Given the description of an element on the screen output the (x, y) to click on. 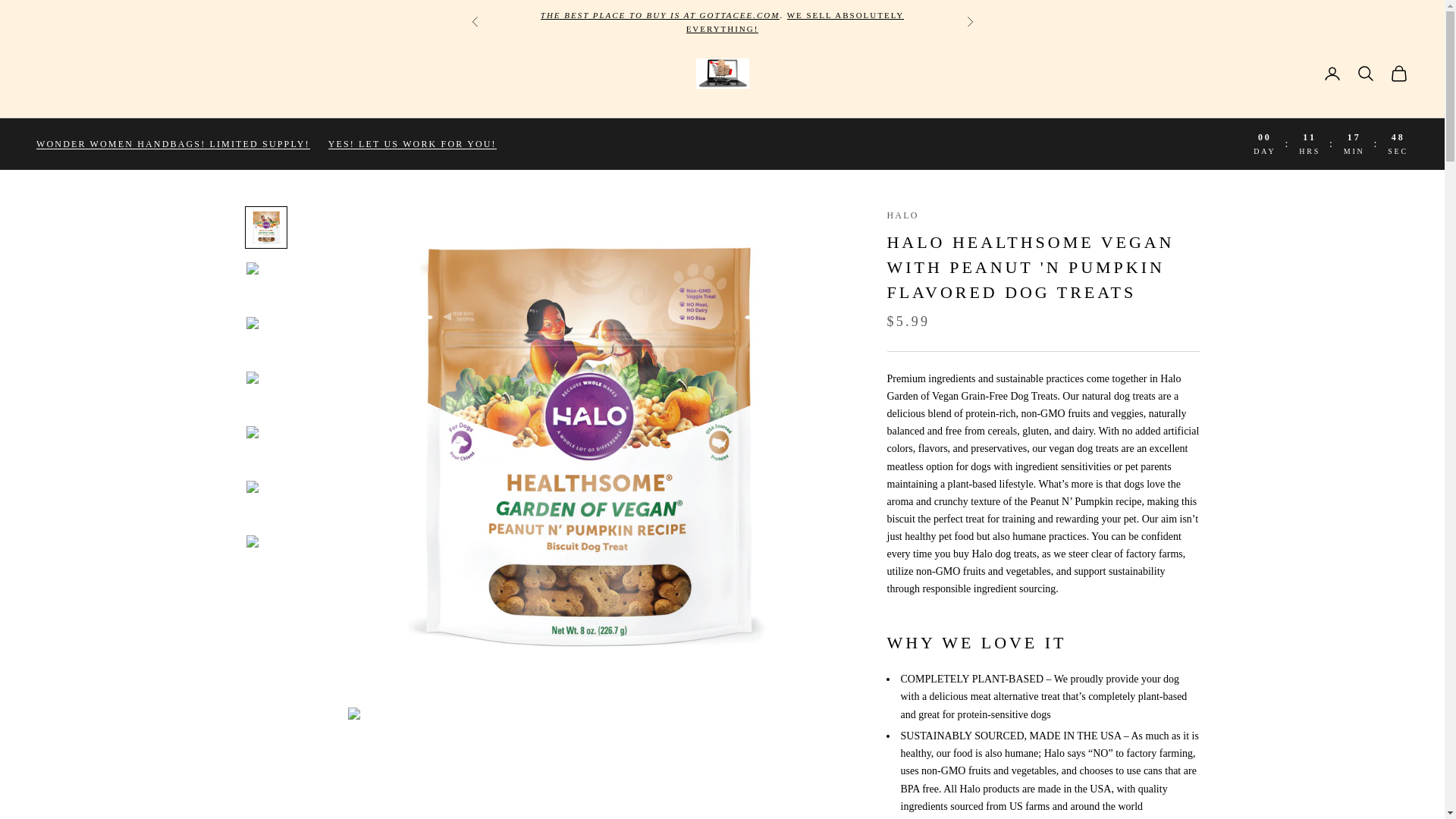
THE BEST PLACE TO BUY IS AT GOTTACEE.COM (660, 14)
YES! LET US WORK FOR YOU! (412, 143)
Open search (1365, 73)
Laushway Jewelry (794, 21)
HALO (902, 214)
WE SELL ABSOLUTELY EVERYTHING! (794, 21)
Open cart (1398, 73)
WONDER WOMEN HANDBAGS! LIMITED SUPPLY! (173, 143)
Gottacee.Com (722, 73)
Laushway Bags (173, 143)
Laushway Flight (660, 14)
Open account page (1331, 73)
